Given the description of an element on the screen output the (x, y) to click on. 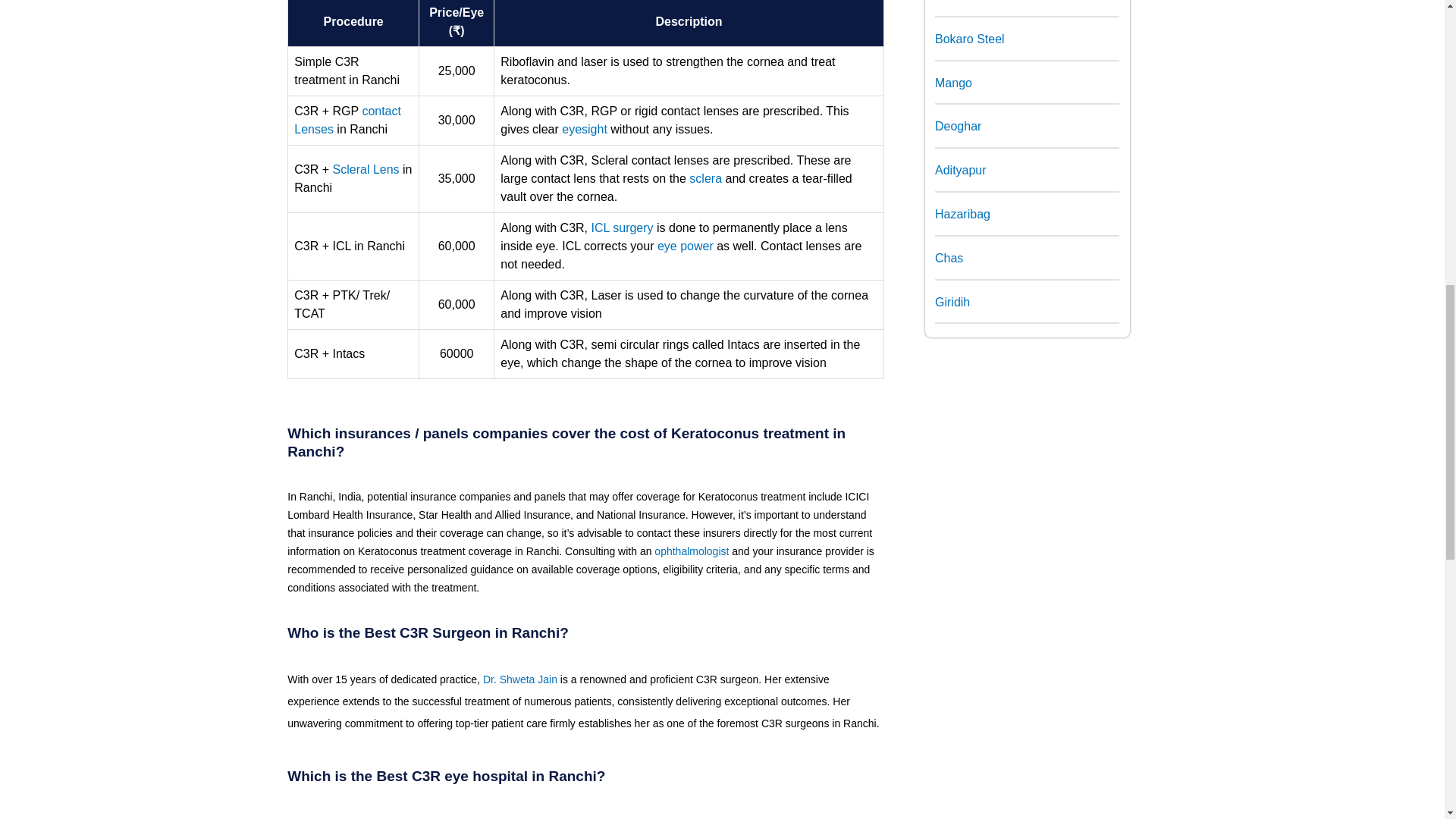
Contact lenses (347, 119)
eyesight (584, 128)
eye power (685, 245)
Ophthalmologist (691, 551)
ICL Surgery (621, 227)
scleral lens (365, 169)
Sclera (705, 178)
